Given the description of an element on the screen output the (x, y) to click on. 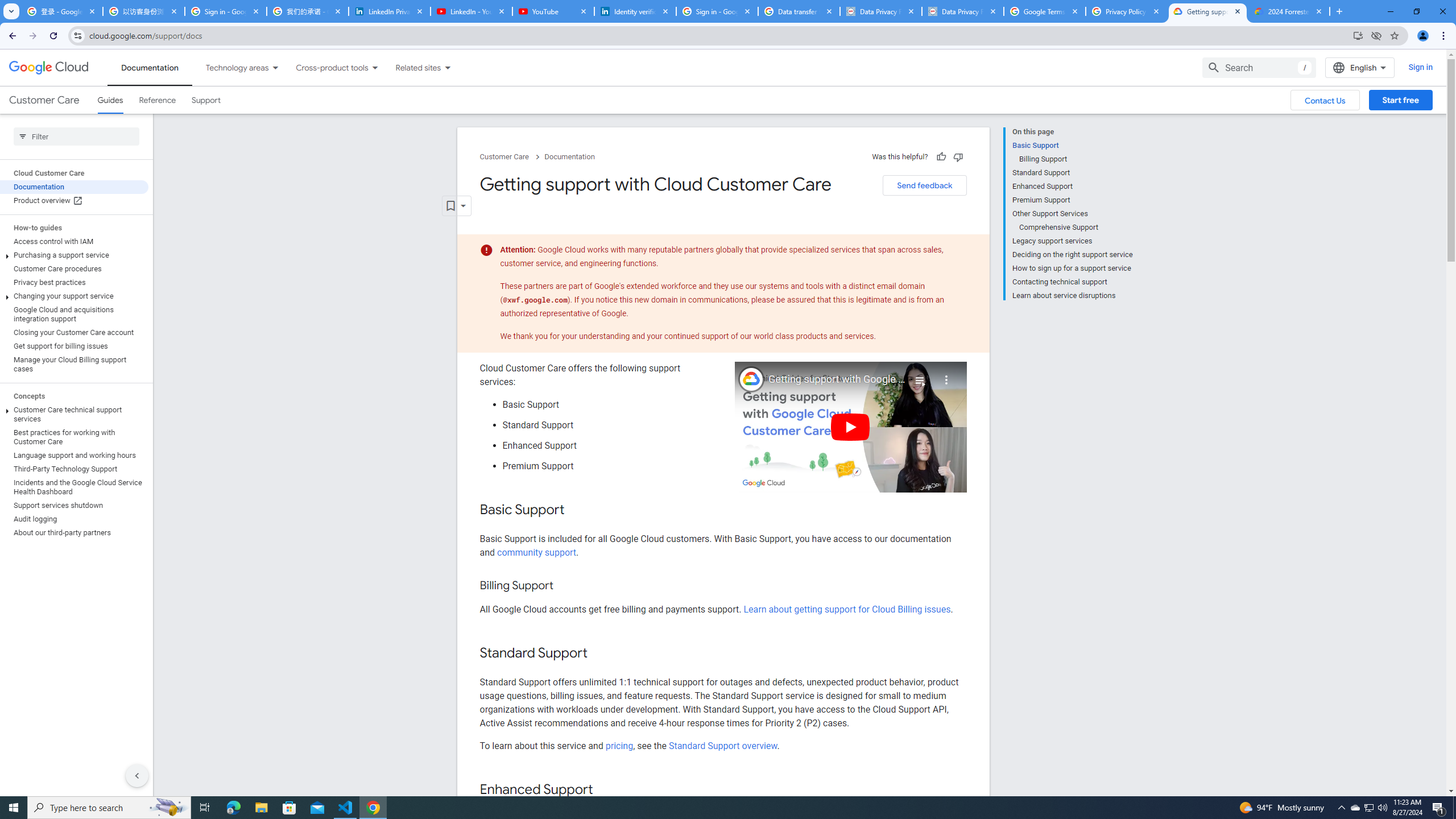
Third-Party Technology Support (74, 468)
Billing Support (1075, 159)
Language support and working hours (74, 455)
Copy link to this section: Basic Support (576, 510)
YouTube (552, 11)
Data Privacy Framework (963, 11)
Premium Support (1071, 200)
Incidents and the Google Cloud Service Health Dashboard (74, 486)
Support (205, 99)
Photo image of Google Cloud Tech (750, 378)
Purchasing a support service (74, 255)
